Given the description of an element on the screen output the (x, y) to click on. 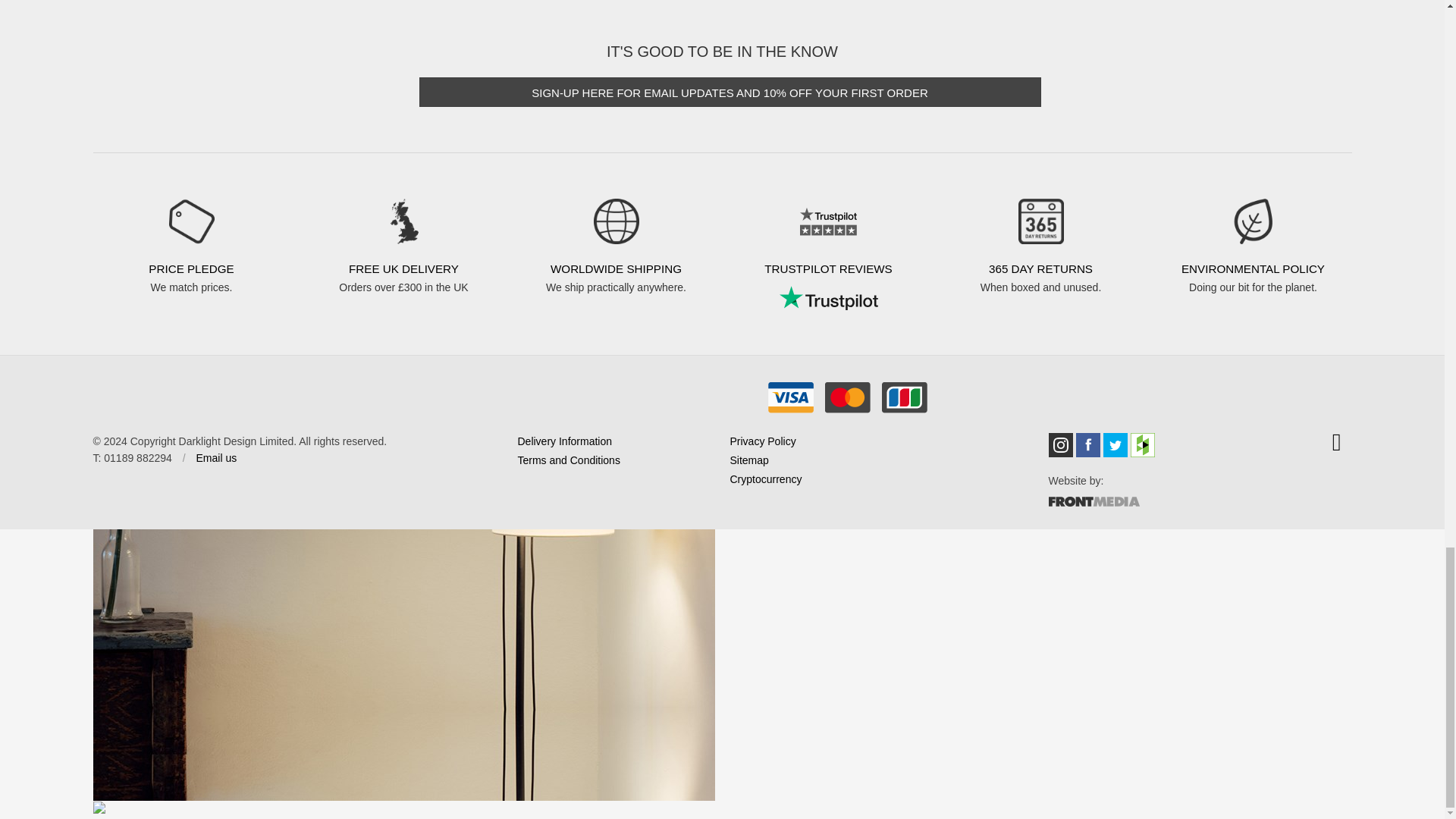
Customer reviews powered by Trustpilot (827, 297)
